Given the description of an element on the screen output the (x, y) to click on. 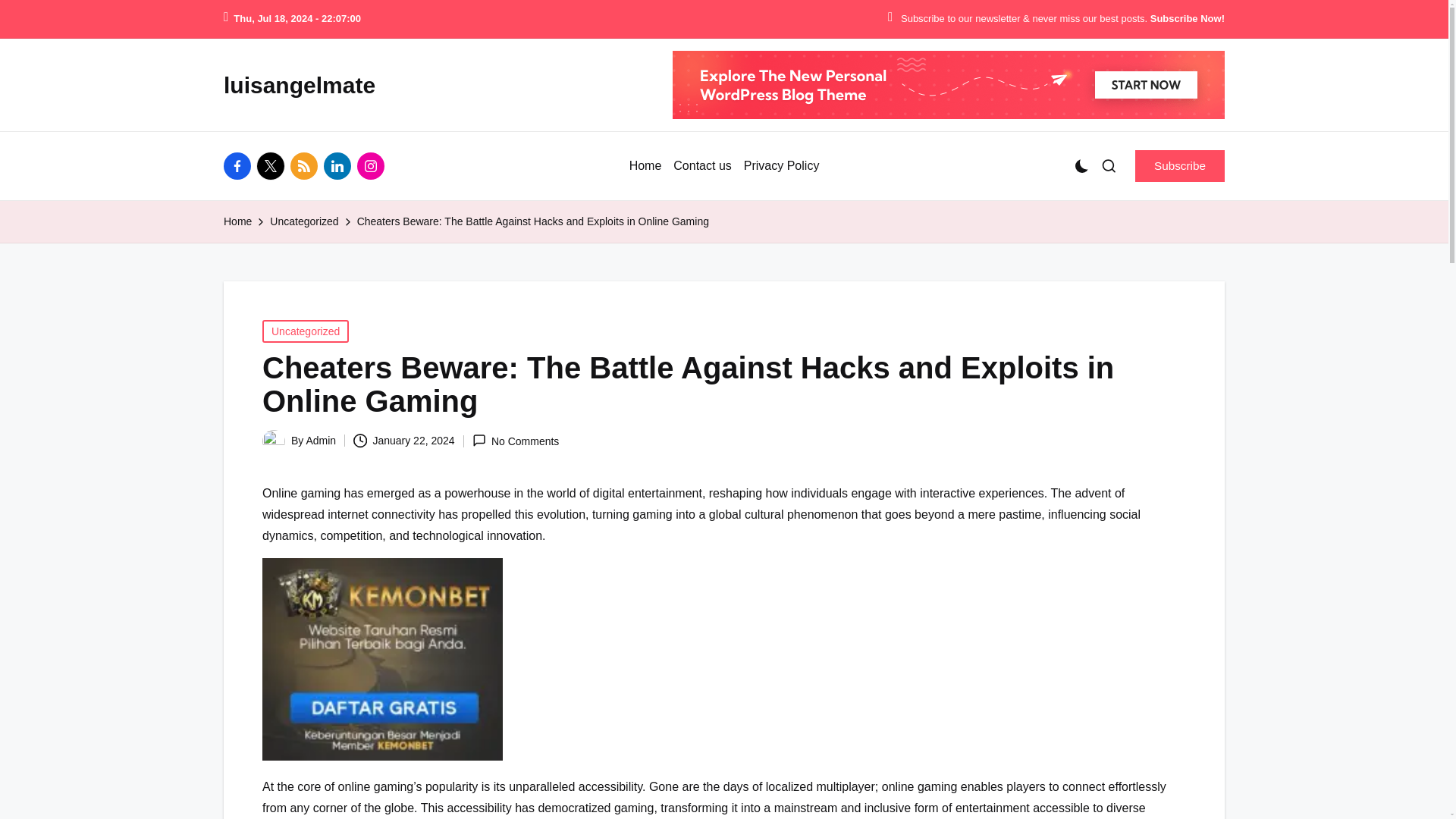
Subscribe (1179, 165)
Home (237, 221)
twitter.com (273, 165)
Subscribe Now! (1187, 18)
Contact us (701, 166)
Privacy Policy (781, 166)
linkedin.com (339, 165)
View all posts by Admin (320, 440)
Admin (320, 440)
Uncategorized (303, 221)
rss.com (306, 165)
luisangelmate (299, 84)
Home (645, 166)
Uncategorized (305, 331)
facebook.com (240, 165)
